Given the description of an element on the screen output the (x, y) to click on. 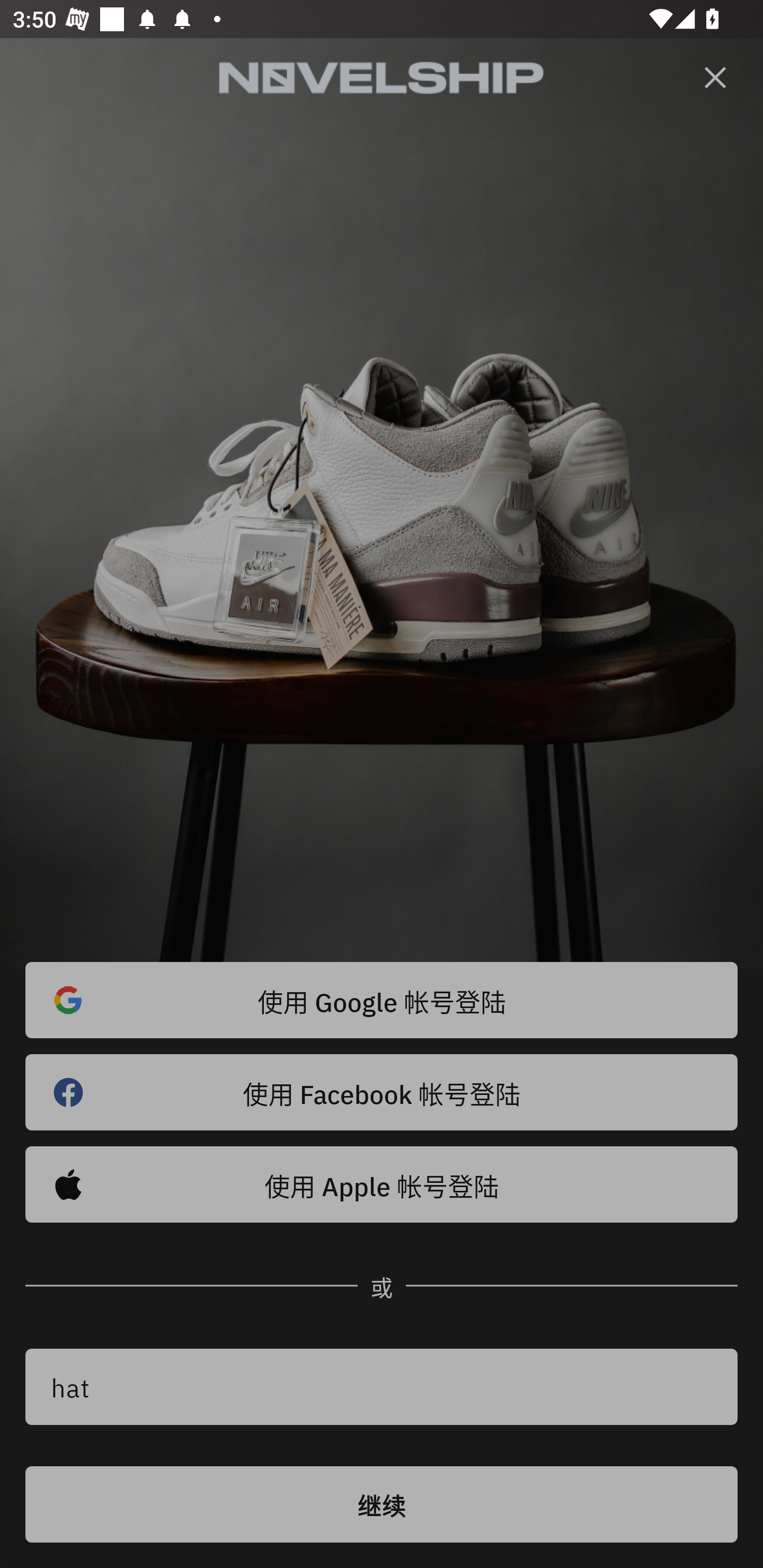
使用 Google 帐号登陆 (381, 1000)
使用 Facebook 帐号登陆 󰈌 (381, 1091)
 使用 Apple 帐号登陆 (381, 1184)
hat (381, 1386)
继续 (381, 1504)
